Given the description of an element on the screen output the (x, y) to click on. 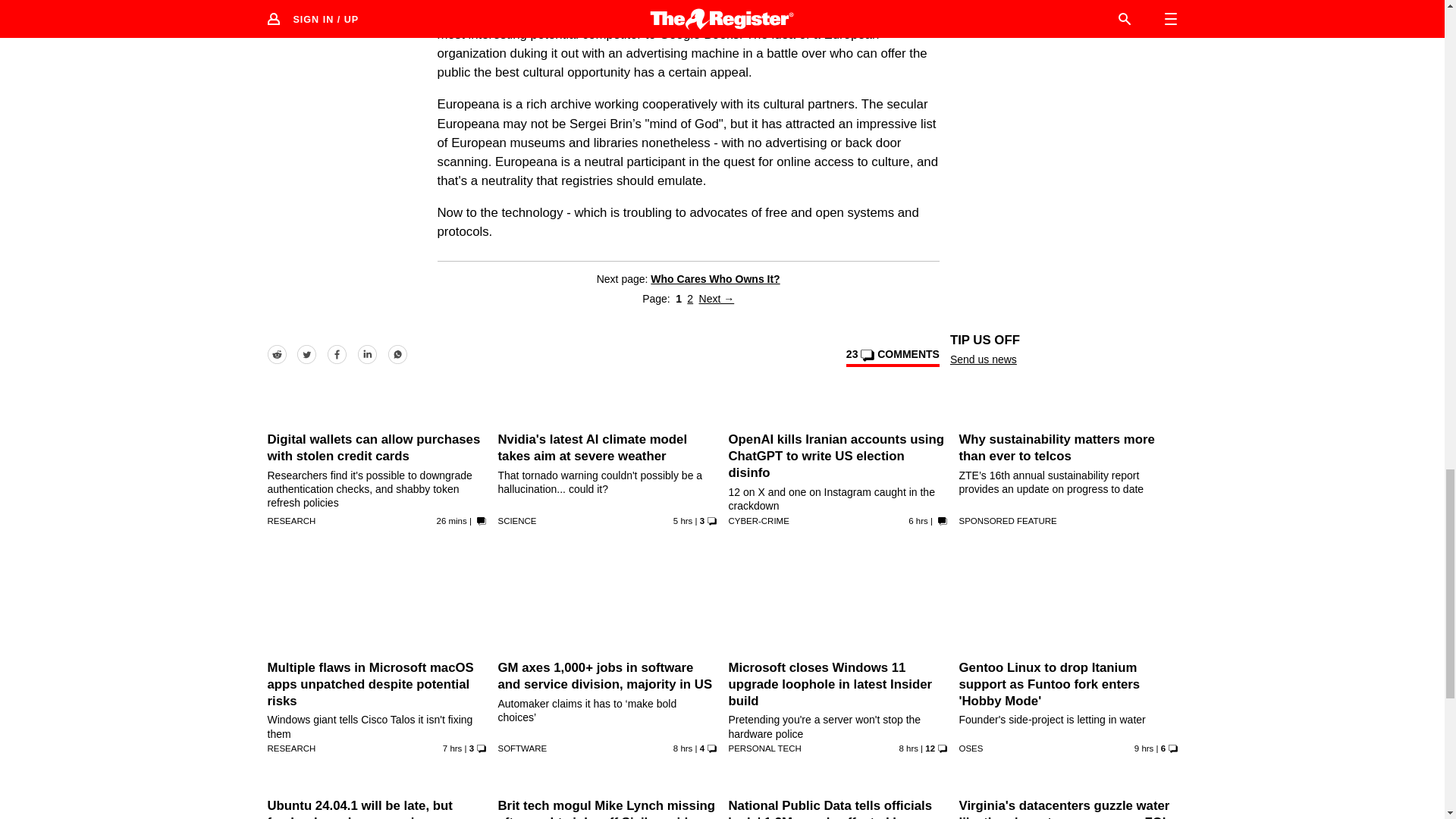
20 Aug 2024 1:29 (451, 520)
19 Aug 2024 20:10 (918, 520)
19 Aug 2024 19:1 (452, 747)
19 Aug 2024 16:44 (1144, 747)
19 Aug 2024 17:41 (908, 747)
View comments on this article (892, 357)
19 Aug 2024 18:4 (682, 747)
19 Aug 2024 21:10 (682, 520)
